Given the description of an element on the screen output the (x, y) to click on. 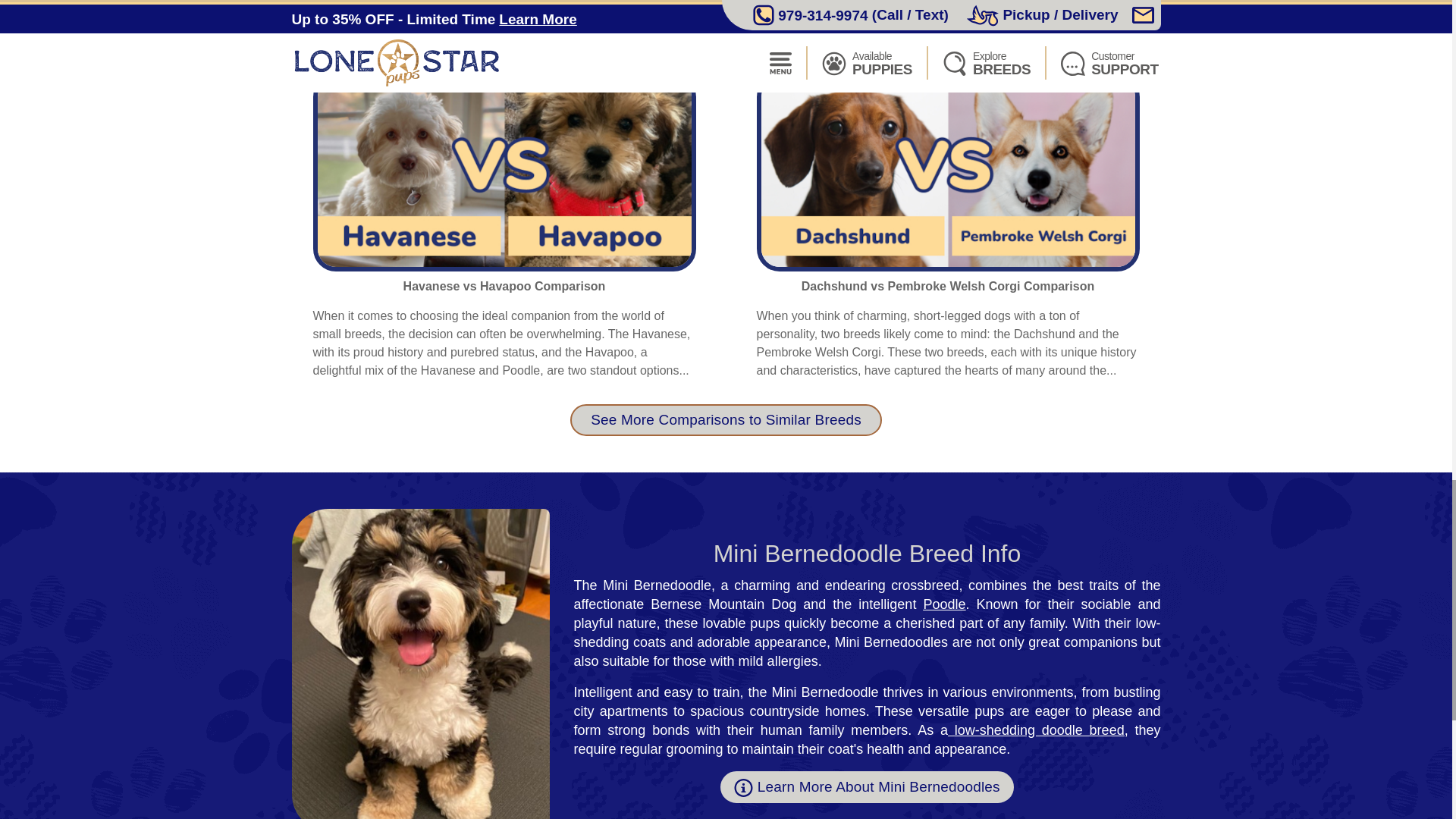
See More Comparisons to Similar Breeds (726, 419)
Learn More About Mini Bernedoodles (866, 787)
low-shedding doodle breed (1039, 729)
Poodle (944, 604)
Dachshund vs Pembroke Welsh Corgi Comparison (948, 286)
Havanese vs Havapoo Comparison (504, 286)
